Given the description of an element on the screen output the (x, y) to click on. 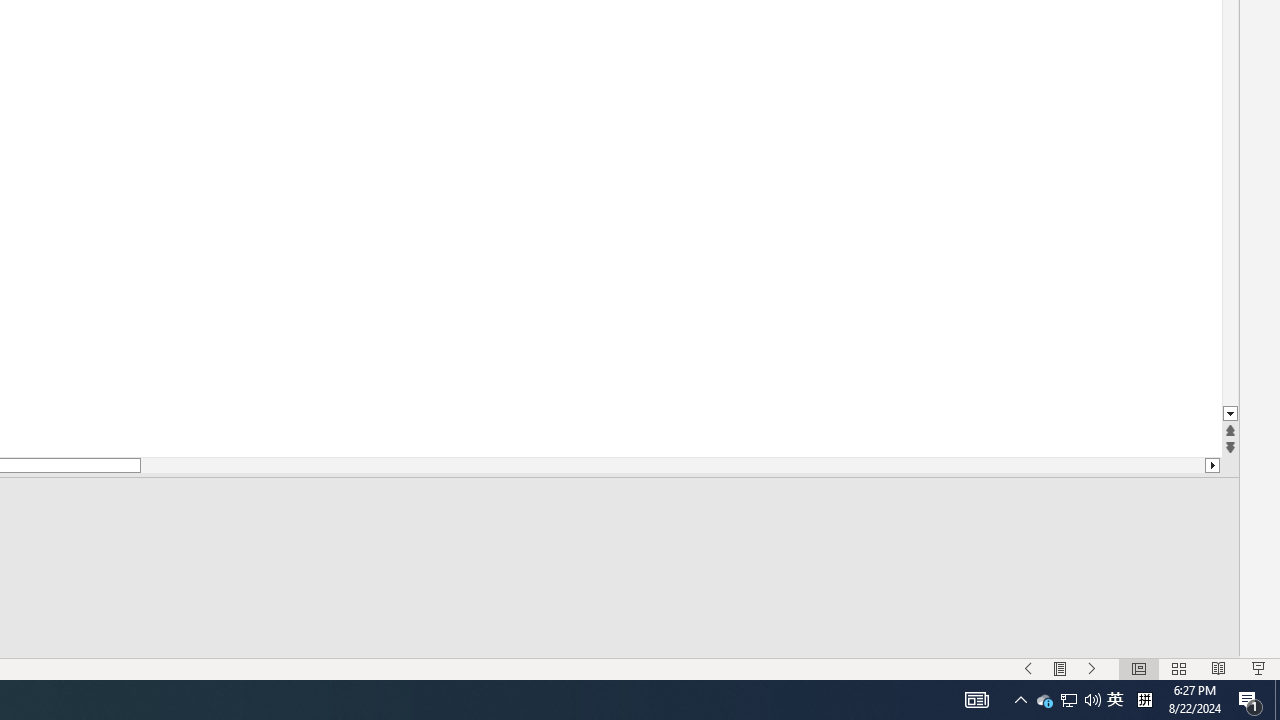
Action Center, 1 new notification (1069, 699)
User Promoted Notification Area (1250, 699)
Tray Input Indicator - Chinese (Simplified, China) (1068, 699)
Menu On (1144, 699)
Q2790: 100% (1060, 668)
AutomationID: 4105 (1044, 699)
Slide Show Previous On (1092, 699)
Slide Show Next On (1115, 699)
Show desktop (976, 699)
